Given the description of an element on the screen output the (x, y) to click on. 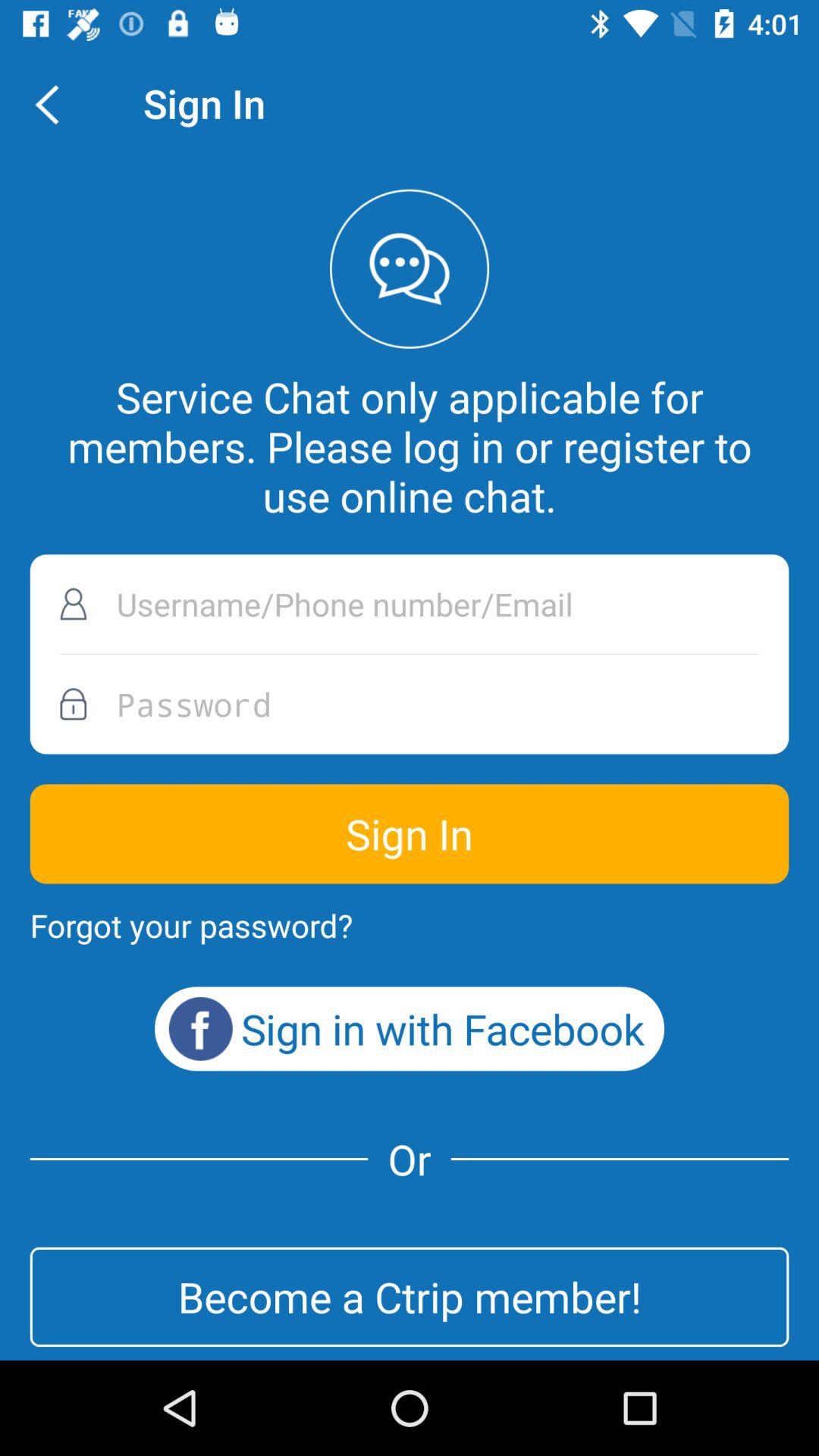
press the icon above the service chat only (55, 103)
